Given the description of an element on the screen output the (x, y) to click on. 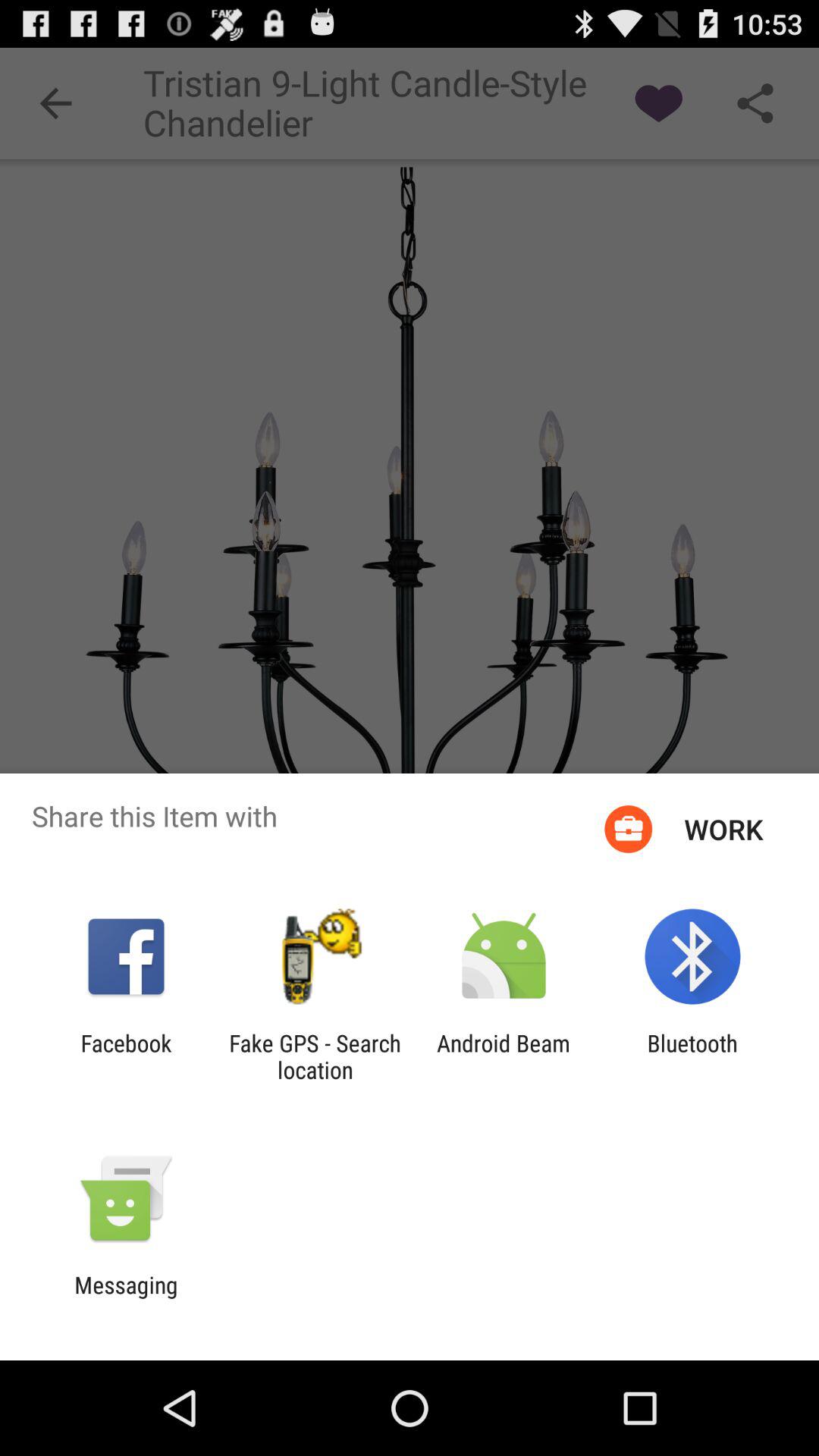
open item next to the bluetooth (503, 1056)
